Given the description of an element on the screen output the (x, y) to click on. 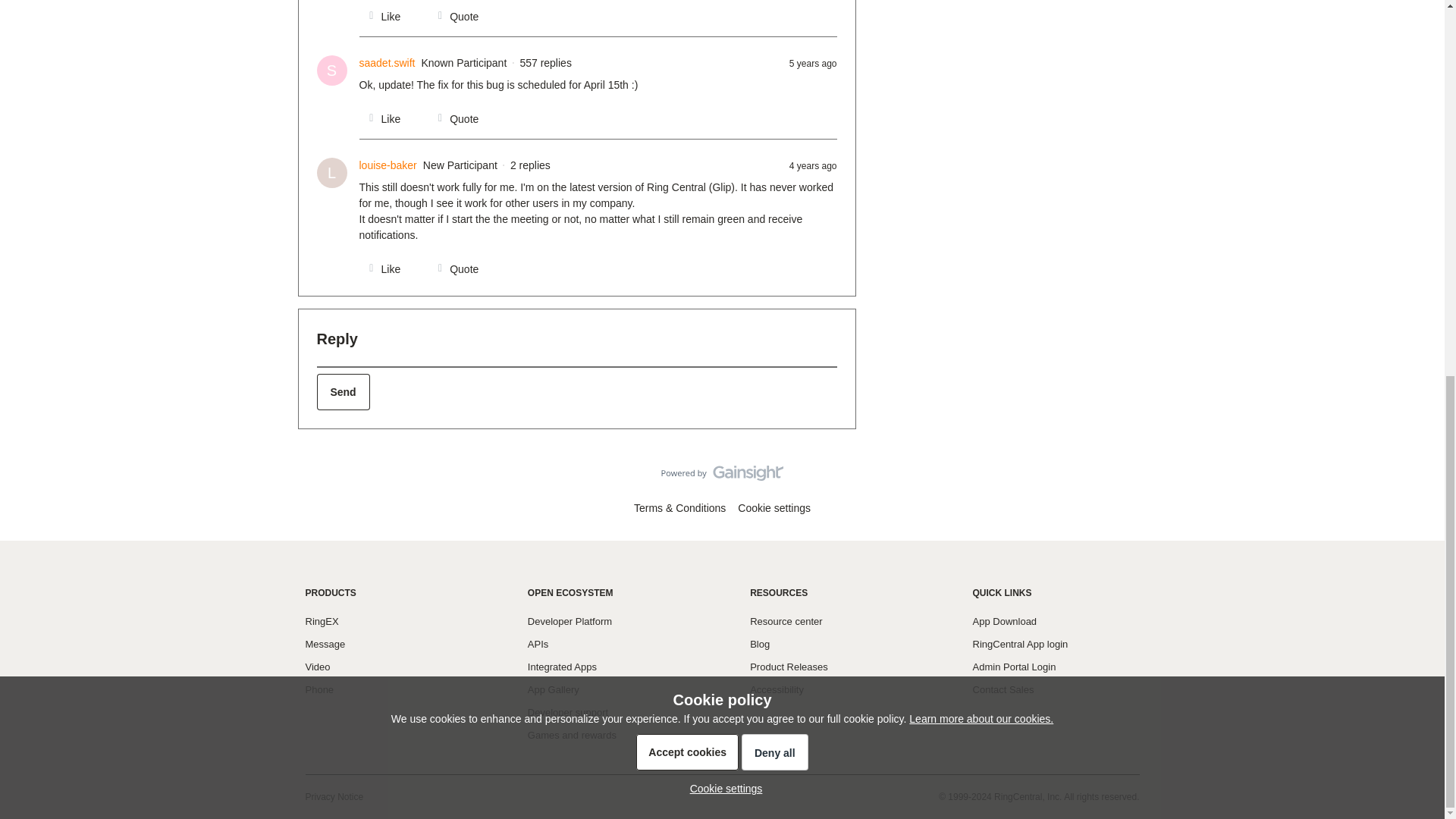
saadet.swift (386, 63)
